Given the description of an element on the screen output the (x, y) to click on. 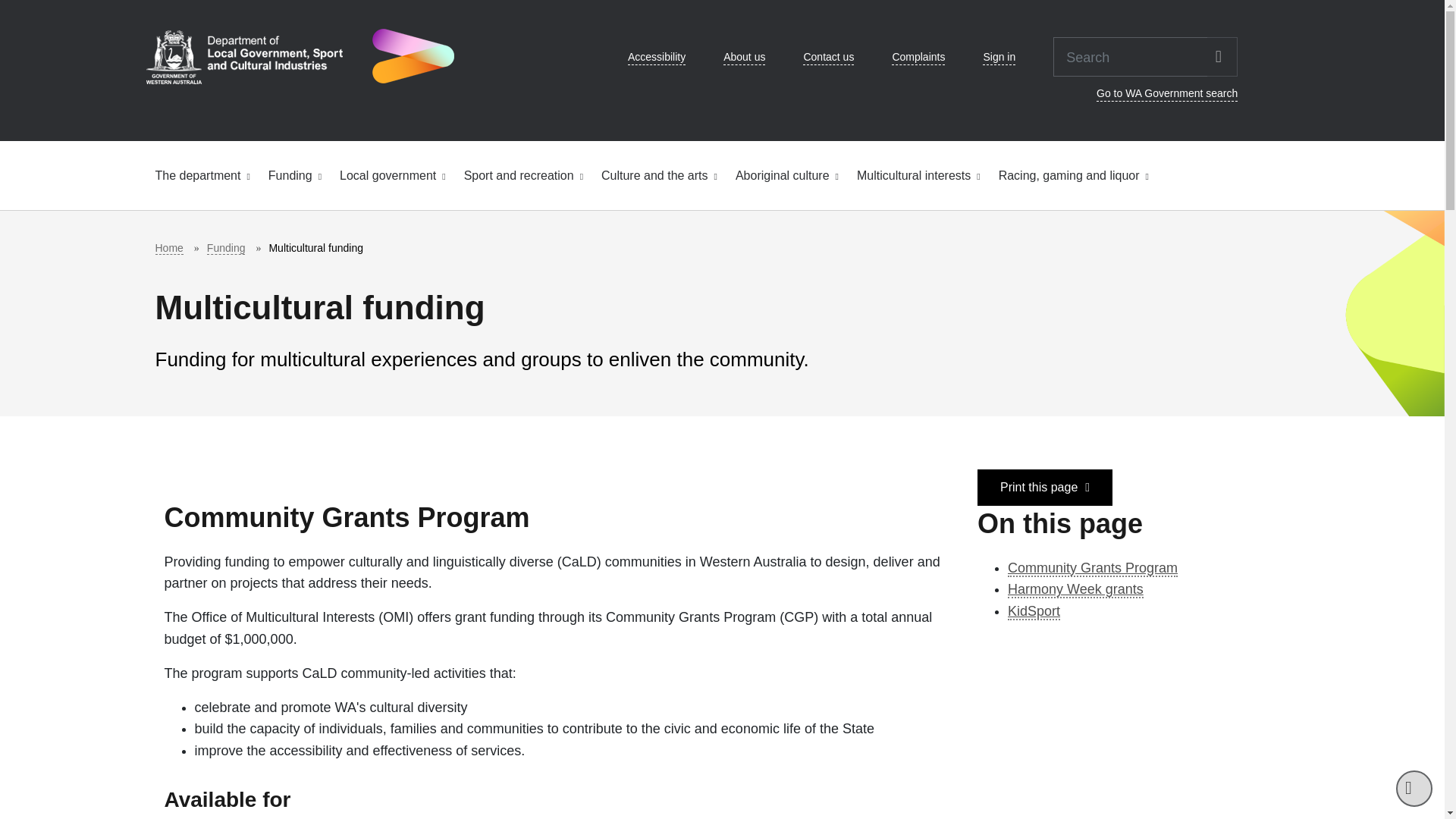
Back to top (1414, 788)
Go to the dlgsc.gov.au homepage (298, 56)
Search input (1129, 56)
